Given the description of an element on the screen output the (x, y) to click on. 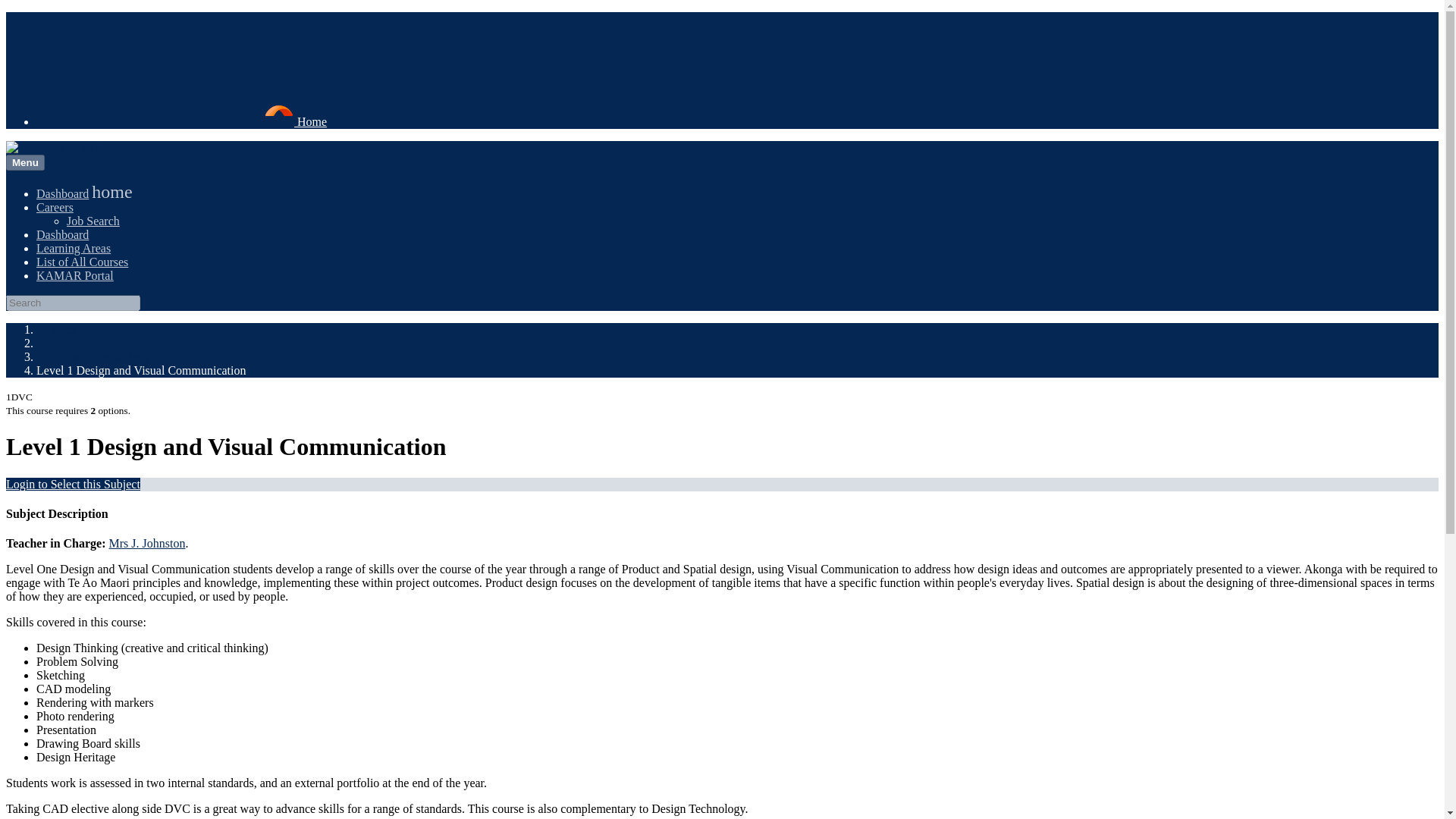
Careers (55, 206)
Riccarton High School (67, 147)
Hangarau - Technology (93, 356)
Home (50, 342)
Home (50, 342)
Dashboard (62, 234)
Learning Areas (73, 247)
List of All Courses (82, 261)
SchoolBridge Dashboard (62, 193)
Hangarau - Technology (93, 356)
home (111, 193)
Home (181, 121)
Menu (25, 162)
Subjects (56, 328)
Home (111, 193)
